Given the description of an element on the screen output the (x, y) to click on. 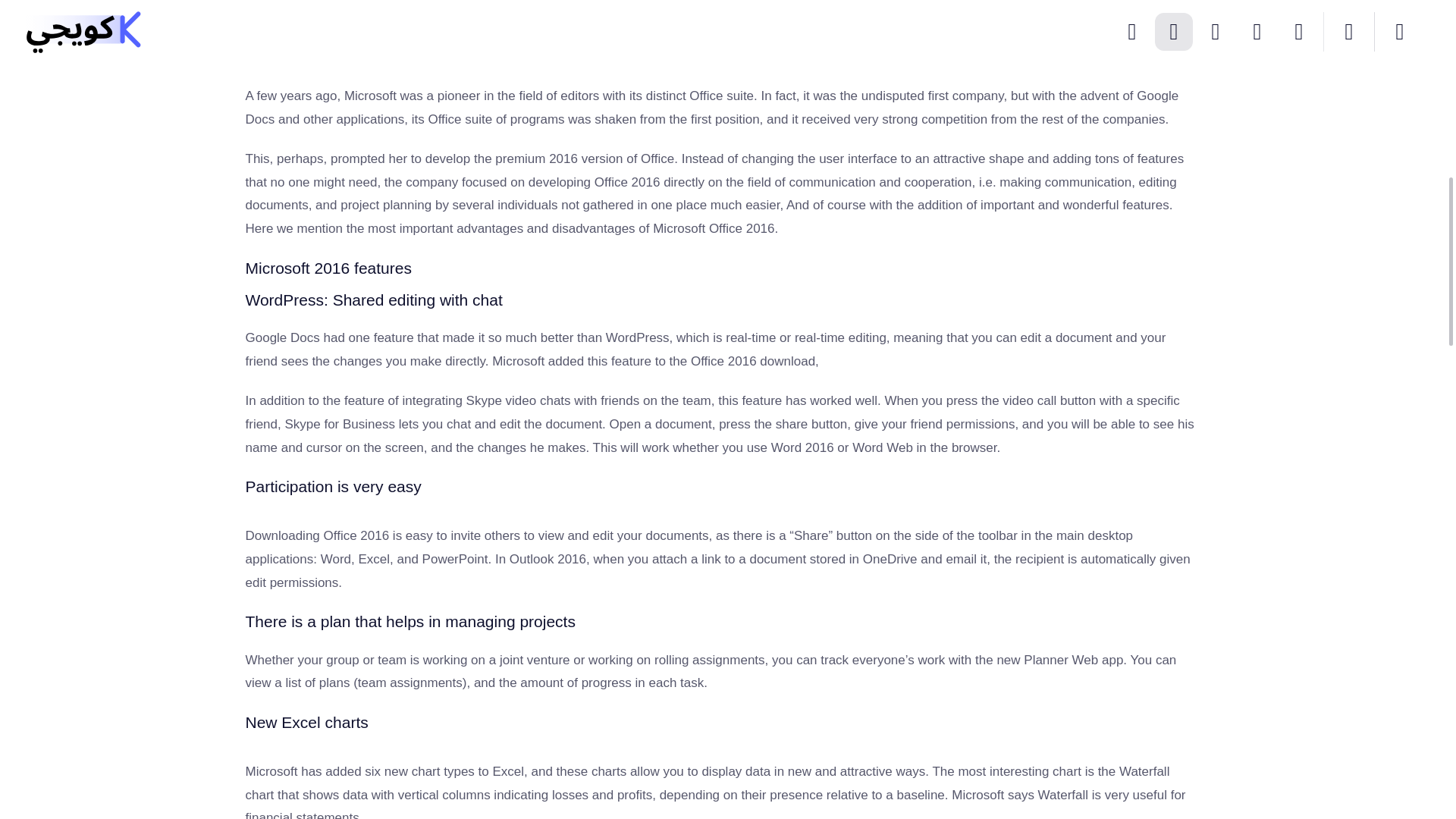
Advertisement (359, 25)
